Given the description of an element on the screen output the (x, y) to click on. 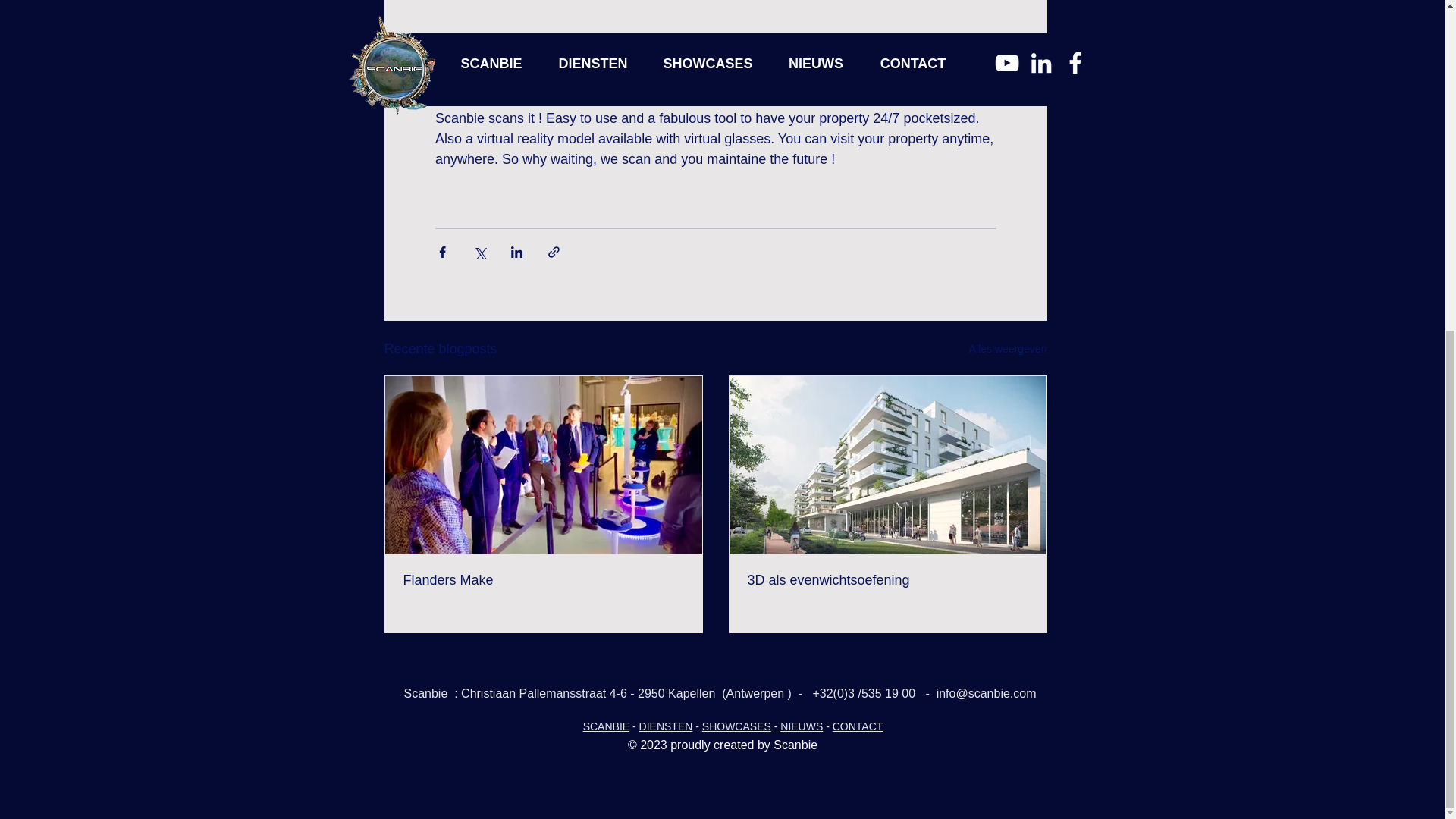
3D als evenwichtsoefening (887, 580)
CONTACT (857, 726)
Alles weergeven (1007, 349)
Flanders Make (543, 580)
DIENSTEN (666, 726)
SHOWCASES (736, 726)
SCANBIE (605, 726)
NIEUWS (801, 726)
